Given the description of an element on the screen output the (x, y) to click on. 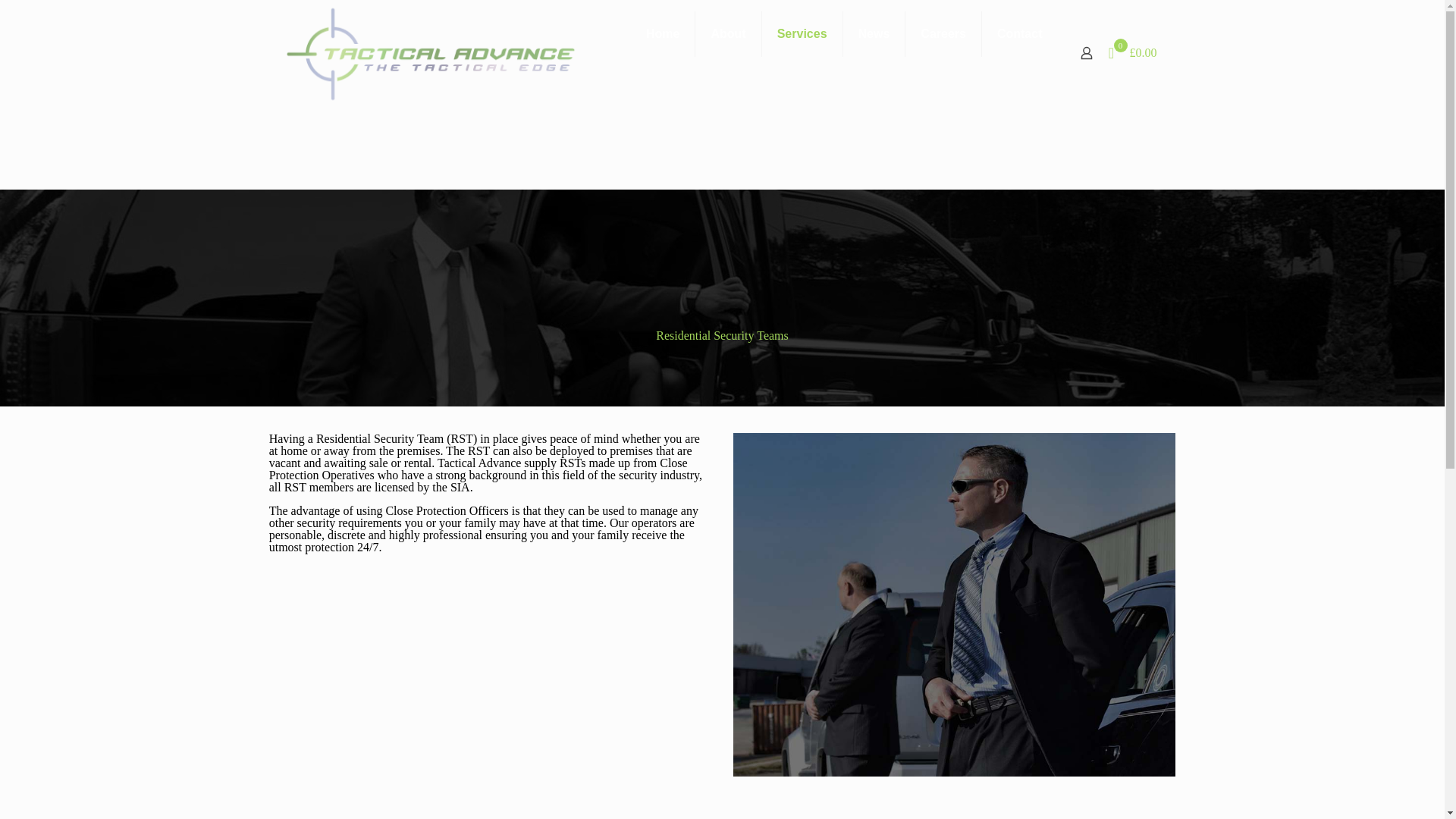
Contact (1019, 33)
Services (802, 33)
About (728, 33)
Home (662, 33)
Tactical Advance (429, 53)
News (874, 33)
Careers (943, 33)
